Given the description of an element on the screen output the (x, y) to click on. 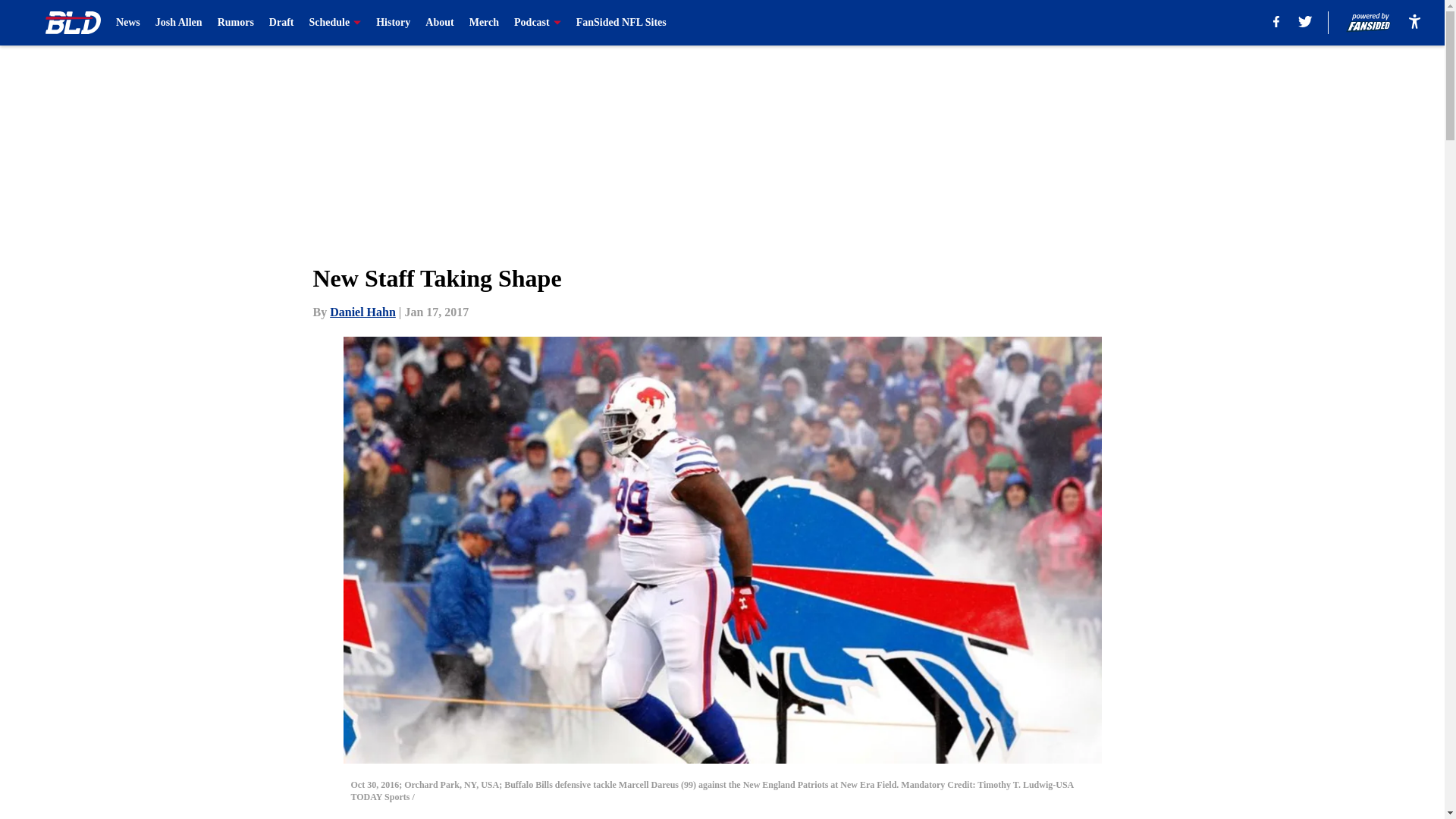
Josh Allen (178, 22)
News (127, 22)
Merch (483, 22)
History (392, 22)
FanSided NFL Sites (621, 22)
Rumors (234, 22)
Draft (281, 22)
About (438, 22)
Daniel Hahn (363, 311)
